Given the description of an element on the screen output the (x, y) to click on. 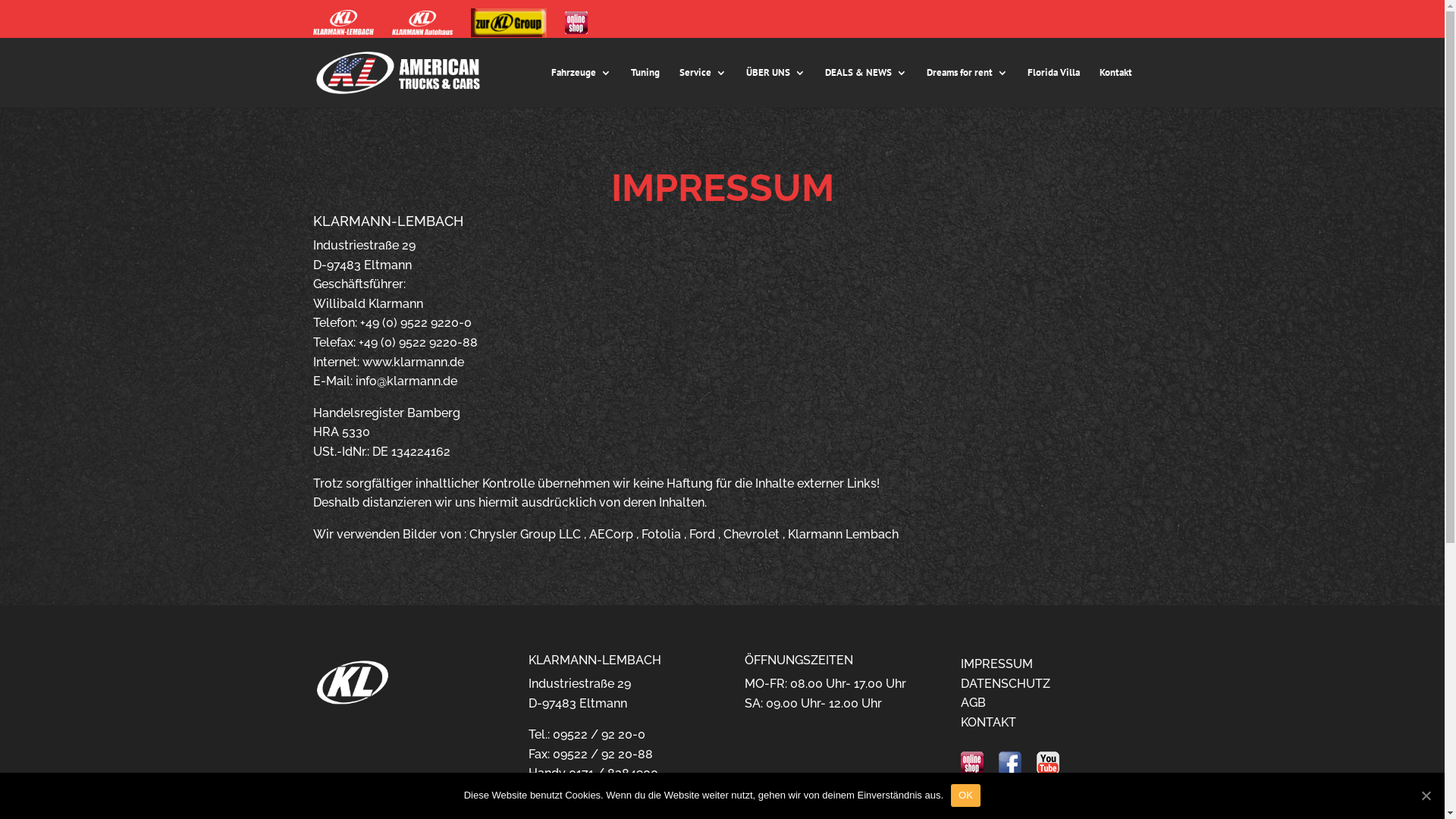
AGB Element type: text (972, 702)
Service Element type: text (702, 87)
Fahrzeuge Element type: text (580, 87)
Kontakt Element type: text (1115, 87)
OK Element type: text (965, 795)
IMPRESSUM Element type: text (996, 663)
Dreams for rent Element type: text (966, 87)
Florida Villa Element type: text (1052, 87)
DATENSCHUTZ Element type: text (1005, 683)
KONTAKT Element type: text (988, 722)
Tuning Element type: text (644, 87)
DEALS & NEWS Element type: text (865, 87)
